Given the description of an element on the screen output the (x, y) to click on. 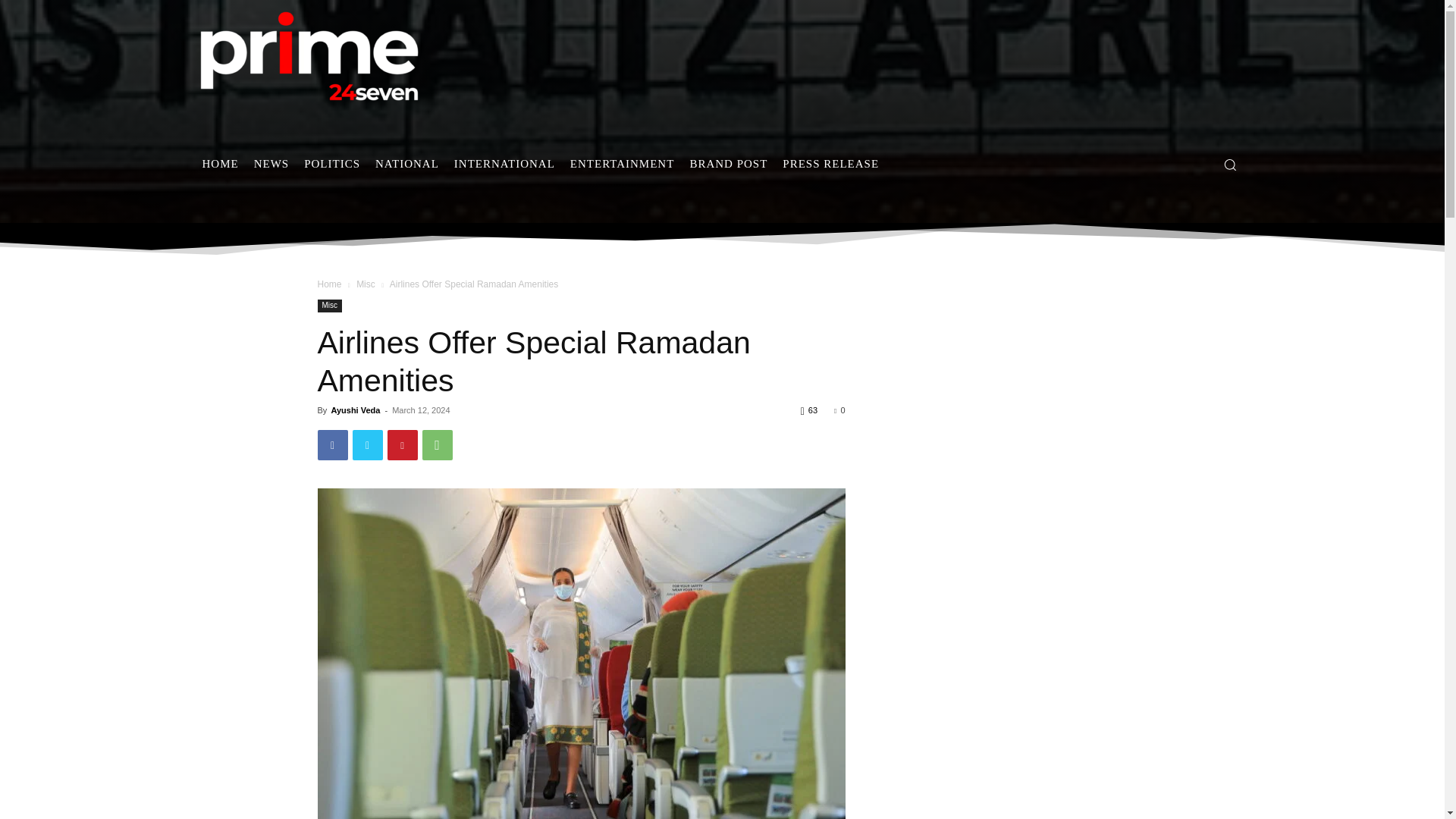
WhatsApp (436, 444)
Twitter (366, 444)
0 (839, 409)
Ayushi Veda (355, 409)
NEWS (271, 163)
Misc (329, 305)
Pinterest (401, 444)
Home (328, 284)
INTERNATIONAL (504, 163)
PRESS RELEASE (830, 163)
BRAND POST (727, 163)
NATIONAL (407, 163)
HOME (219, 163)
ENTERTAINMENT (622, 163)
